Given the description of an element on the screen output the (x, y) to click on. 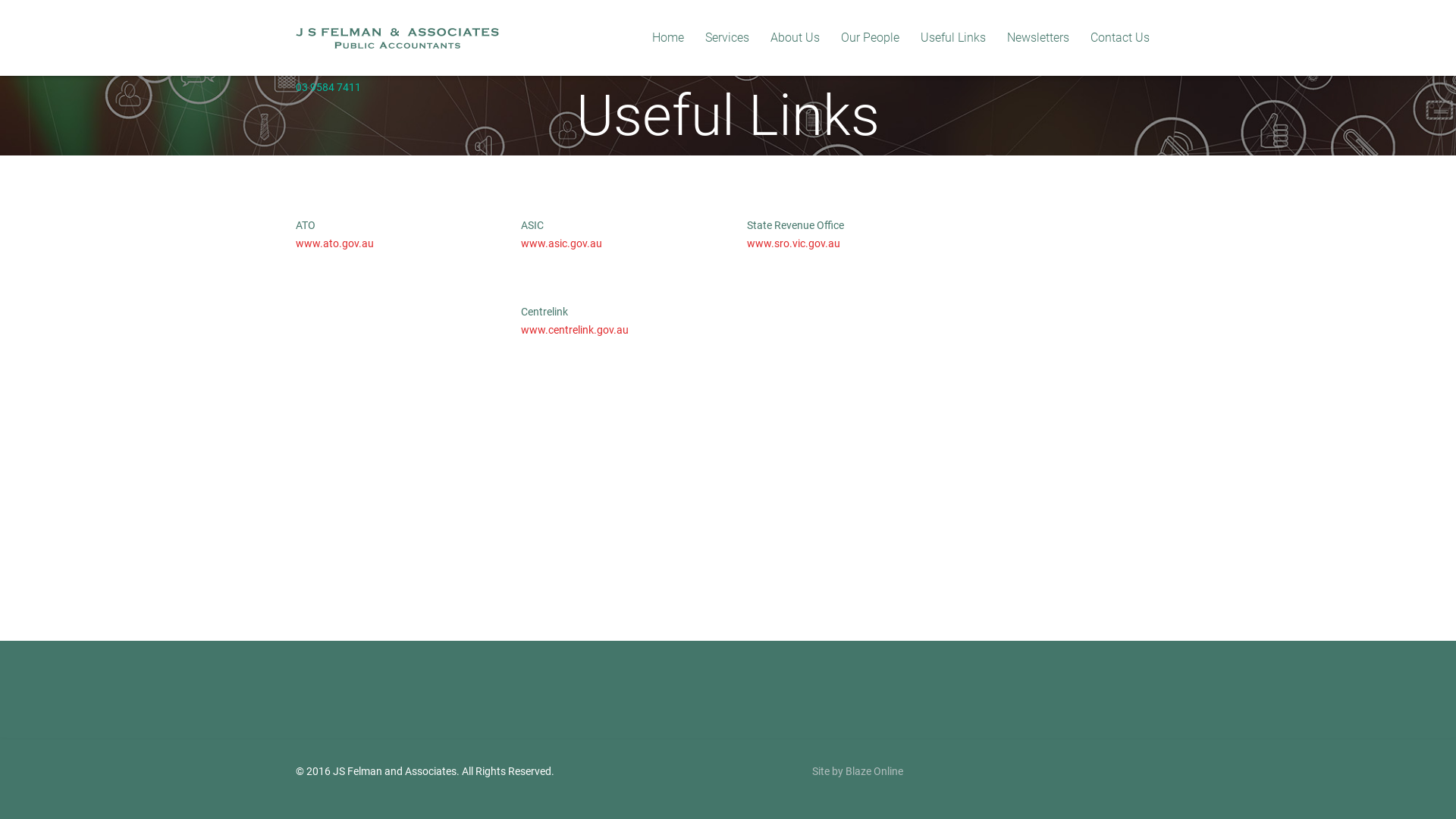
Contact Us Element type: text (1119, 37)
www.sro.vic.gov.au Element type: text (793, 243)
Useful Links Element type: text (953, 37)
Our People Element type: text (870, 37)
www.ato.gov.au Element type: text (334, 243)
About Us Element type: text (794, 37)
Home Element type: text (667, 37)
03 9584 7411 Element type: text (327, 86)
www.centrelink.gov.au Element type: text (574, 329)
www.asic.gov.au Element type: text (561, 243)
Site by Blaze Online Element type: text (856, 771)
Newsletters Element type: text (1037, 37)
Services Element type: text (726, 37)
